Given the description of an element on the screen output the (x, y) to click on. 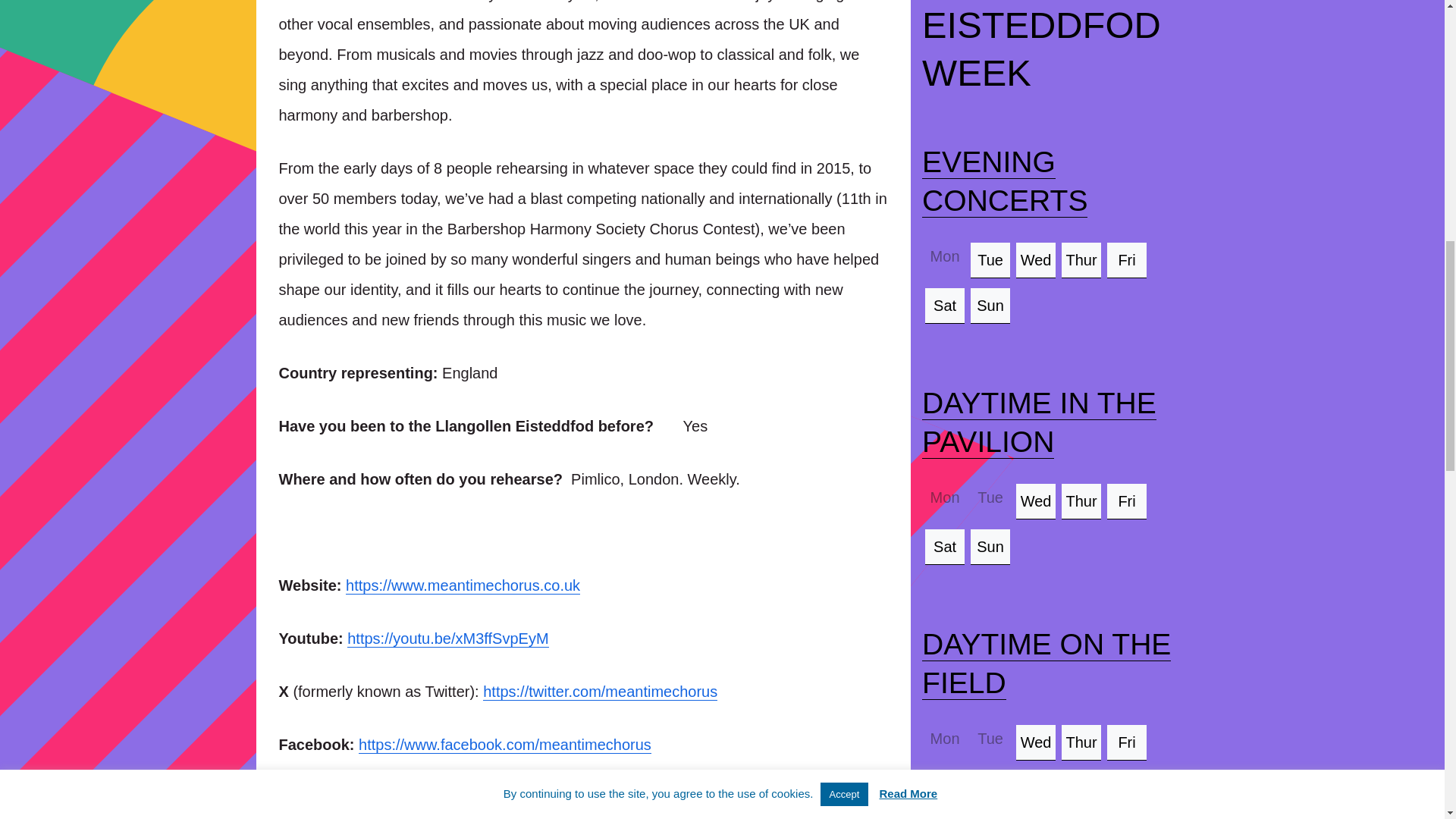
Saturday Day (943, 787)
Thursday Evening (1080, 259)
Sunday Day (990, 546)
Thursday Day (1080, 742)
Saturday Evening (943, 305)
Wednesday Evening (1035, 259)
Friday Day (1126, 742)
Sunday Evening (990, 305)
Saturday Day (943, 546)
Friday Evening (1126, 259)
Friday Day (1126, 501)
Tuesday Evening (990, 259)
Wednesday Day (1035, 742)
Thursday Day (1080, 501)
Wednesday Day (1035, 501)
